Given the description of an element on the screen output the (x, y) to click on. 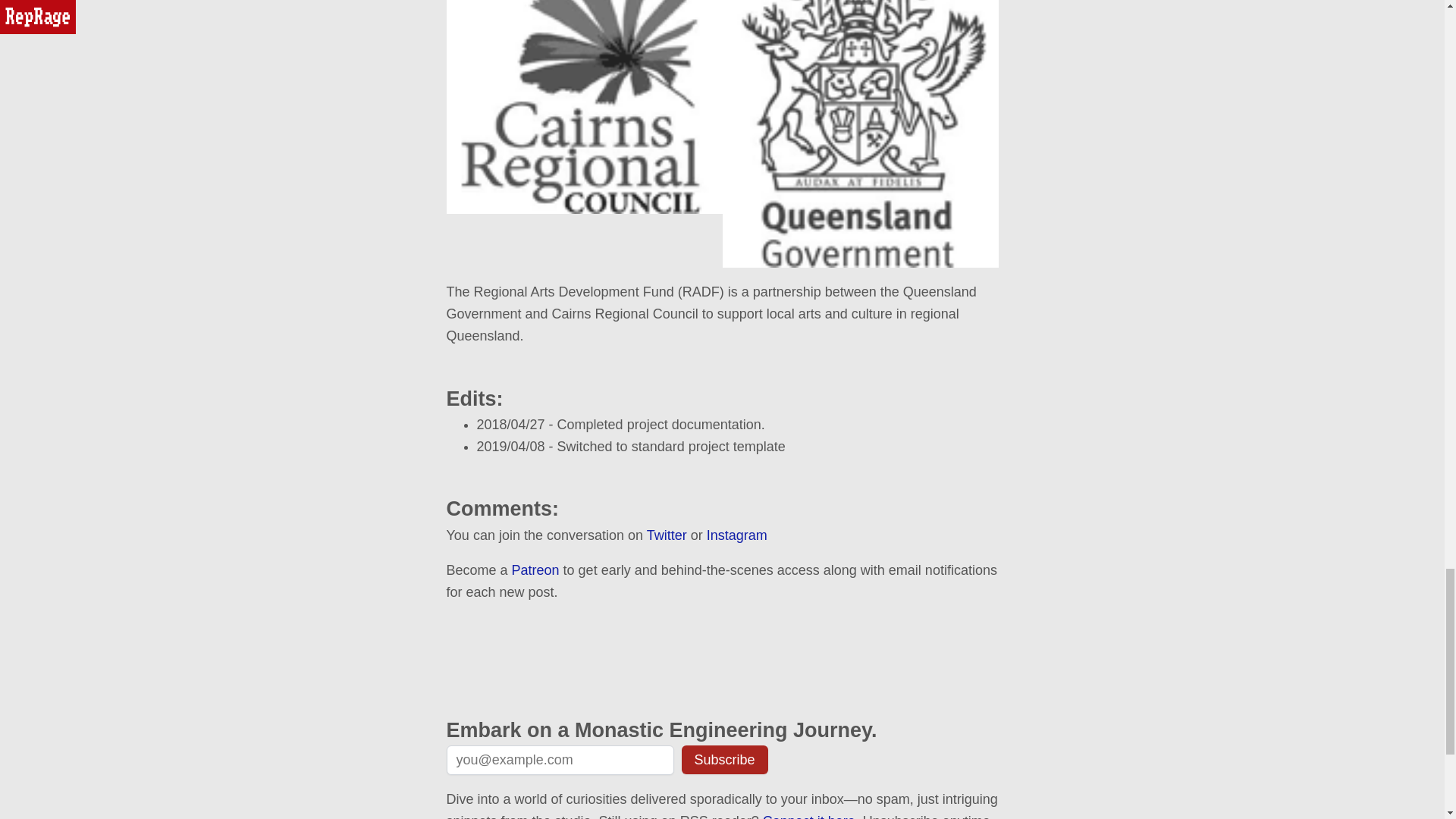
Twitter (666, 534)
Instagram (736, 534)
Patreon (535, 570)
Subscribe (724, 759)
Connect it here (809, 816)
